Given the description of an element on the screen output the (x, y) to click on. 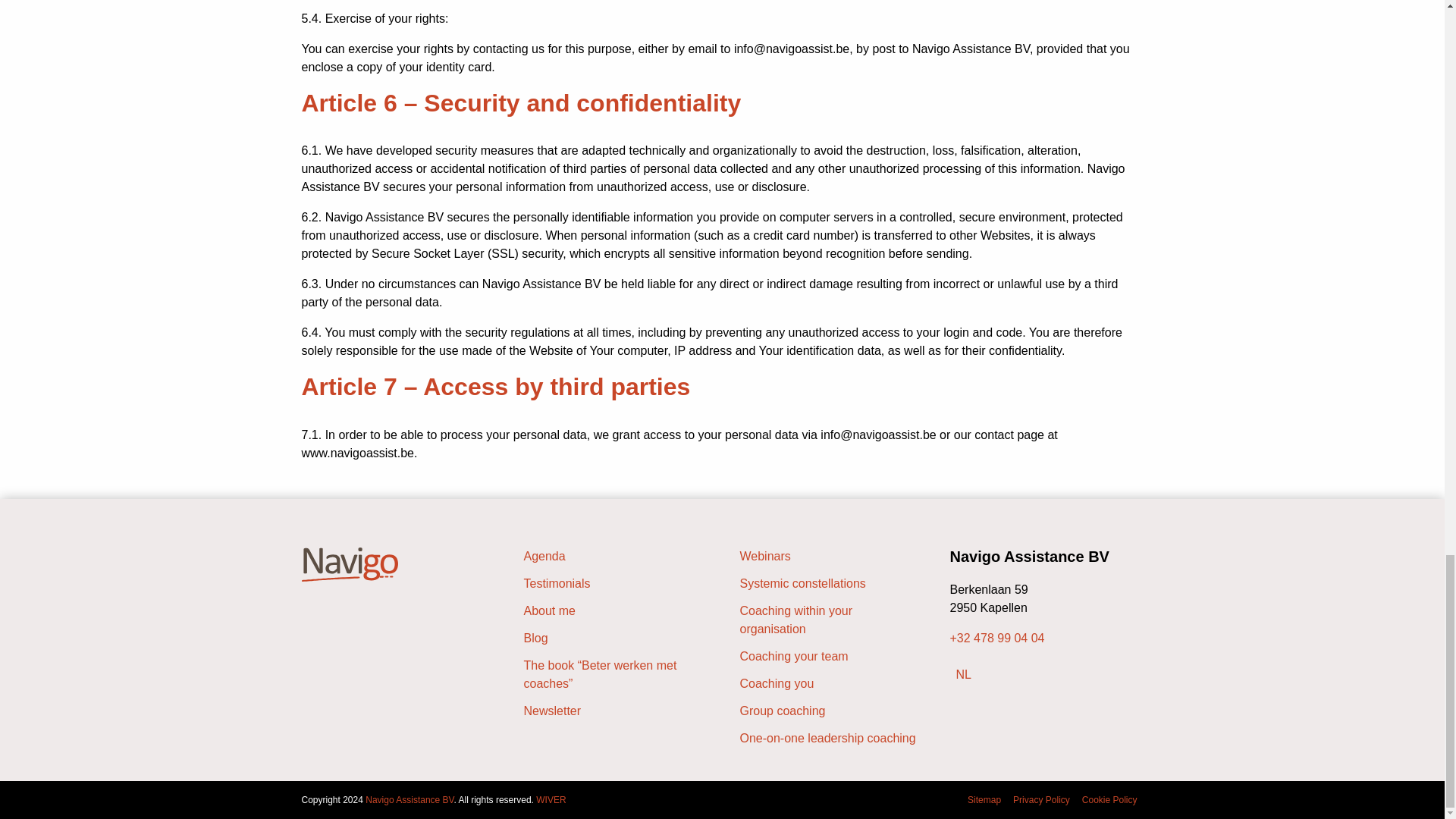
Newsletter (613, 710)
Coaching you (830, 683)
Group coaching (830, 710)
Webinars (830, 556)
Agenda (613, 556)
NL (962, 675)
WIVER (550, 799)
Privacy Policy (1041, 799)
Testimonials (613, 583)
Cookie Policy (1108, 799)
Coaching within your organisation (830, 619)
Systemic constellations (830, 583)
About me (613, 610)
Coaching your team (830, 656)
One-on-one leadership coaching (830, 738)
